Given the description of an element on the screen output the (x, y) to click on. 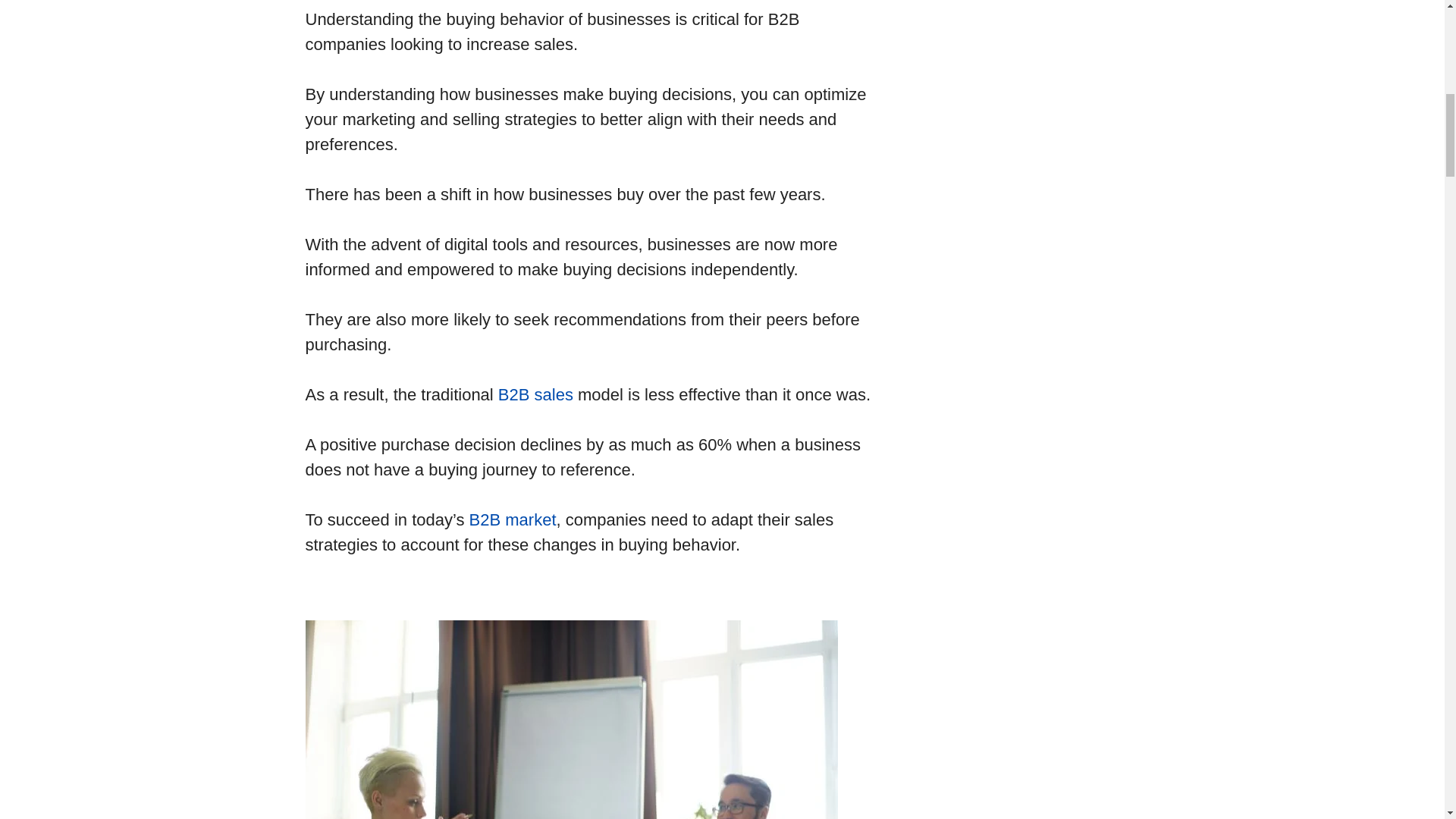
B2B sales (535, 394)
B2B market (512, 519)
